Given the description of an element on the screen output the (x, y) to click on. 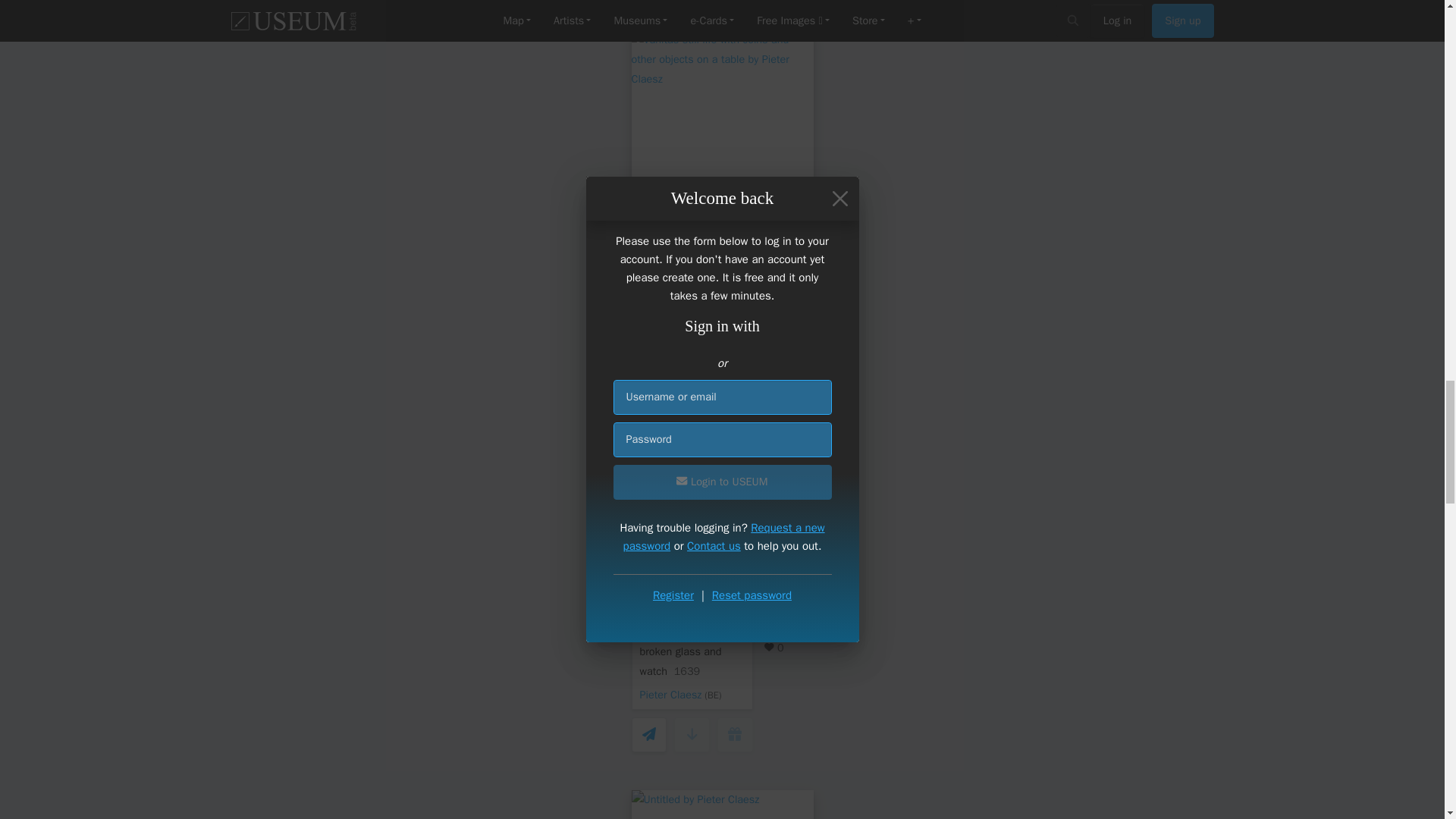
BE (713, 357)
BE (713, 695)
